Given the description of an element on the screen output the (x, y) to click on. 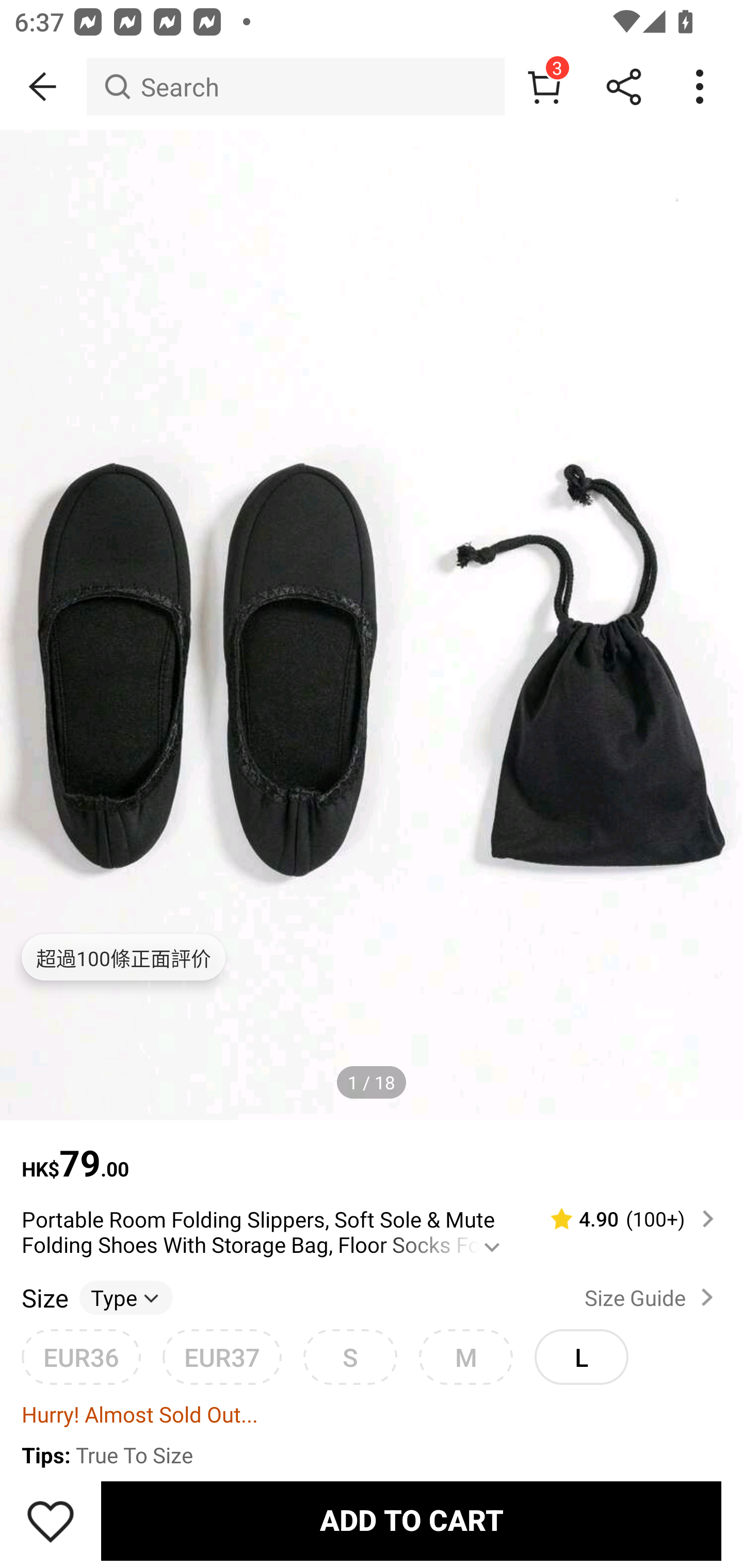
BACK (43, 86)
3 (543, 87)
Search (295, 87)
1 / 18 (371, 1082)
HK$79.00 (371, 1152)
4.90 (100‎+) (623, 1219)
Size (44, 1297)
Type (126, 1297)
Size Guide (652, 1297)
EUR36 (81, 1356)
EUR37 (221, 1356)
S (350, 1356)
M (465, 1356)
L Lunselected option (581, 1356)
Hurry! Almost Sold Out... (371, 1413)
Tips: True To Size (371, 1455)
ADD TO CART (411, 1520)
Save (50, 1520)
